Given the description of an element on the screen output the (x, y) to click on. 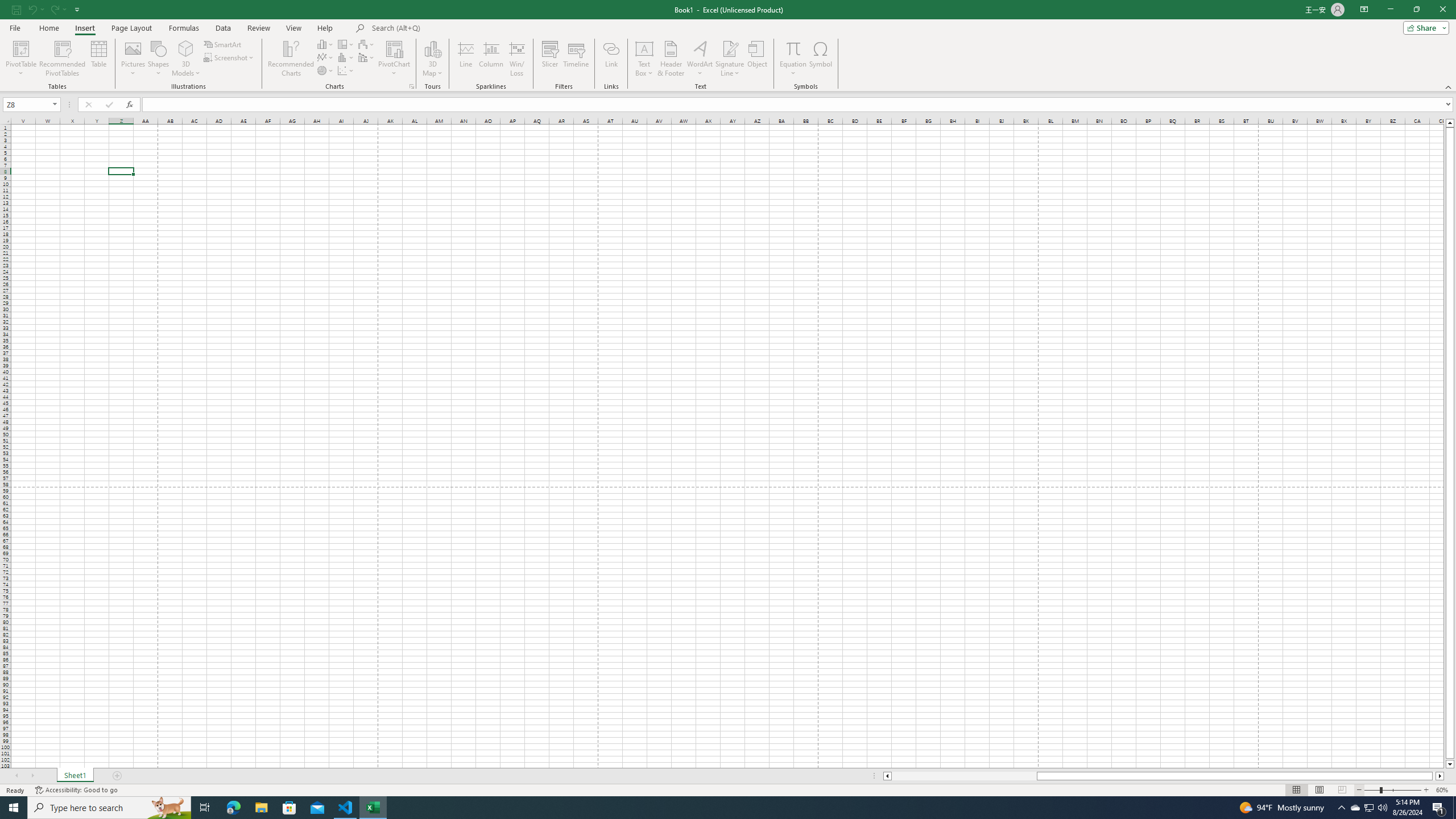
WordArt (699, 58)
Insert Waterfall, Funnel, Stock, Surface, or Radar Chart (366, 44)
Insert Line or Area Chart (325, 56)
Symbol... (821, 58)
Line (465, 58)
Insert Hierarchy Chart (346, 44)
3D Map (432, 58)
Insert Pie or Doughnut Chart (325, 69)
